Given the description of an element on the screen output the (x, y) to click on. 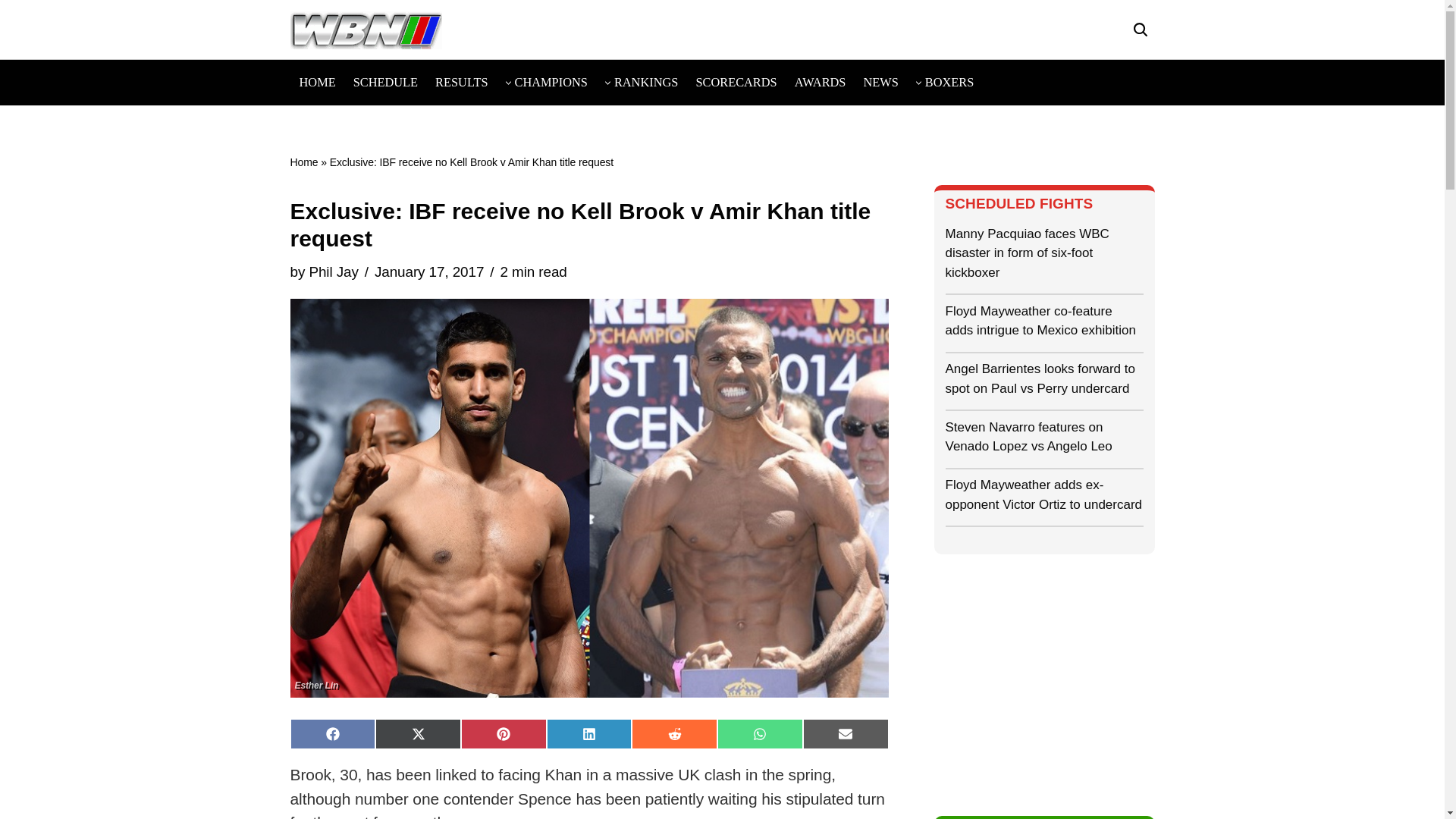
Posts by Phil Jay (333, 271)
Skip to content (11, 31)
AWARDS (819, 81)
RESULTS (461, 81)
NEWS (880, 81)
CHAMPIONS (551, 81)
HOME (316, 81)
RANKINGS (646, 81)
SCHEDULE (385, 81)
BOXERS (949, 81)
SCORECARDS (735, 81)
